Given the description of an element on the screen output the (x, y) to click on. 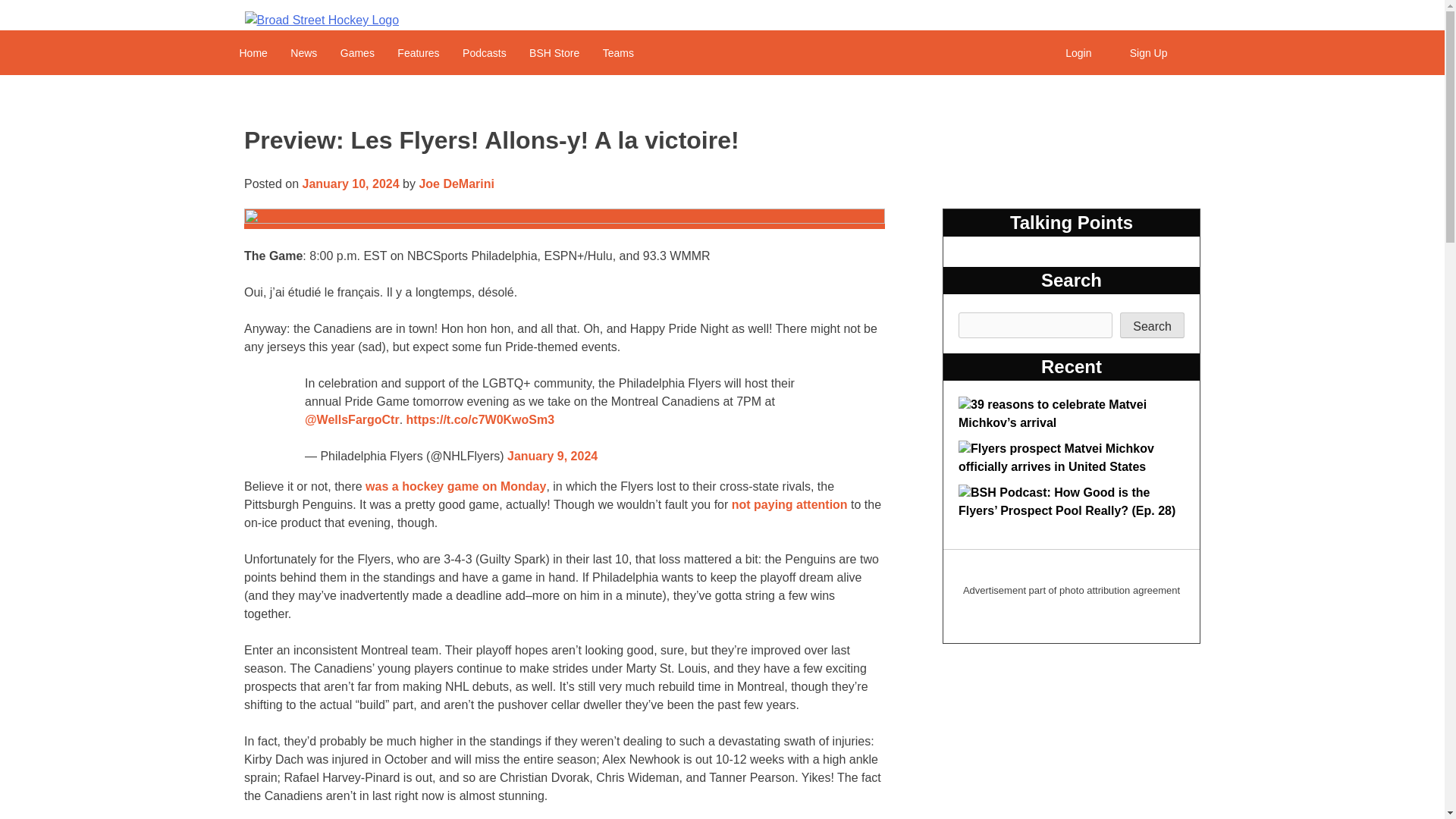
Teams (617, 52)
Broad Street Hockey (321, 19)
News (303, 52)
BSH Store (554, 52)
Games (357, 52)
Features (417, 52)
Home (252, 52)
Podcasts (484, 52)
